Given the description of an element on the screen output the (x, y) to click on. 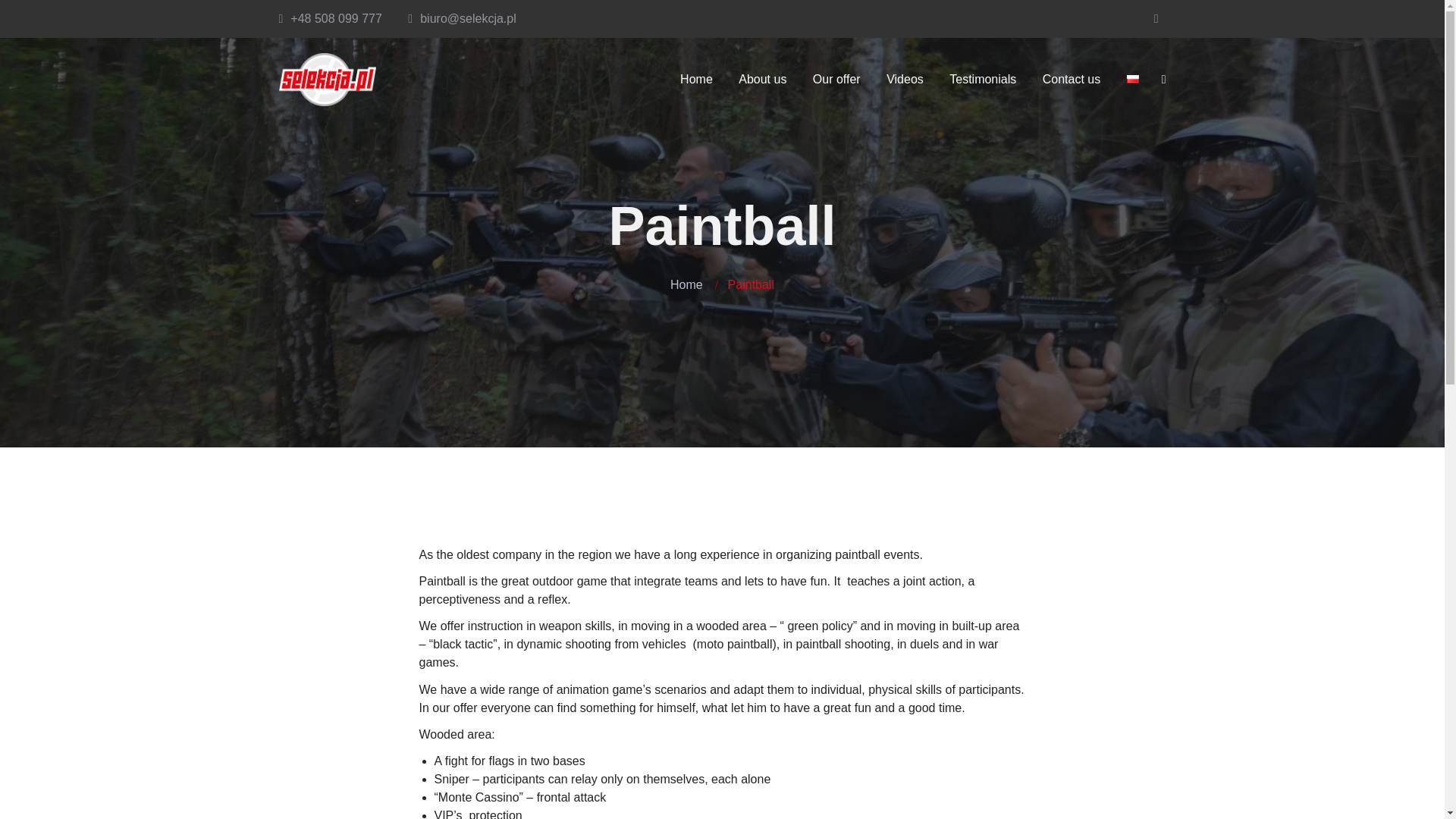
Testimonials (982, 79)
Home (686, 284)
Home (695, 79)
Our offer (837, 79)
Contact us (1071, 79)
About us (761, 79)
Videos (904, 79)
